Given the description of an element on the screen output the (x, y) to click on. 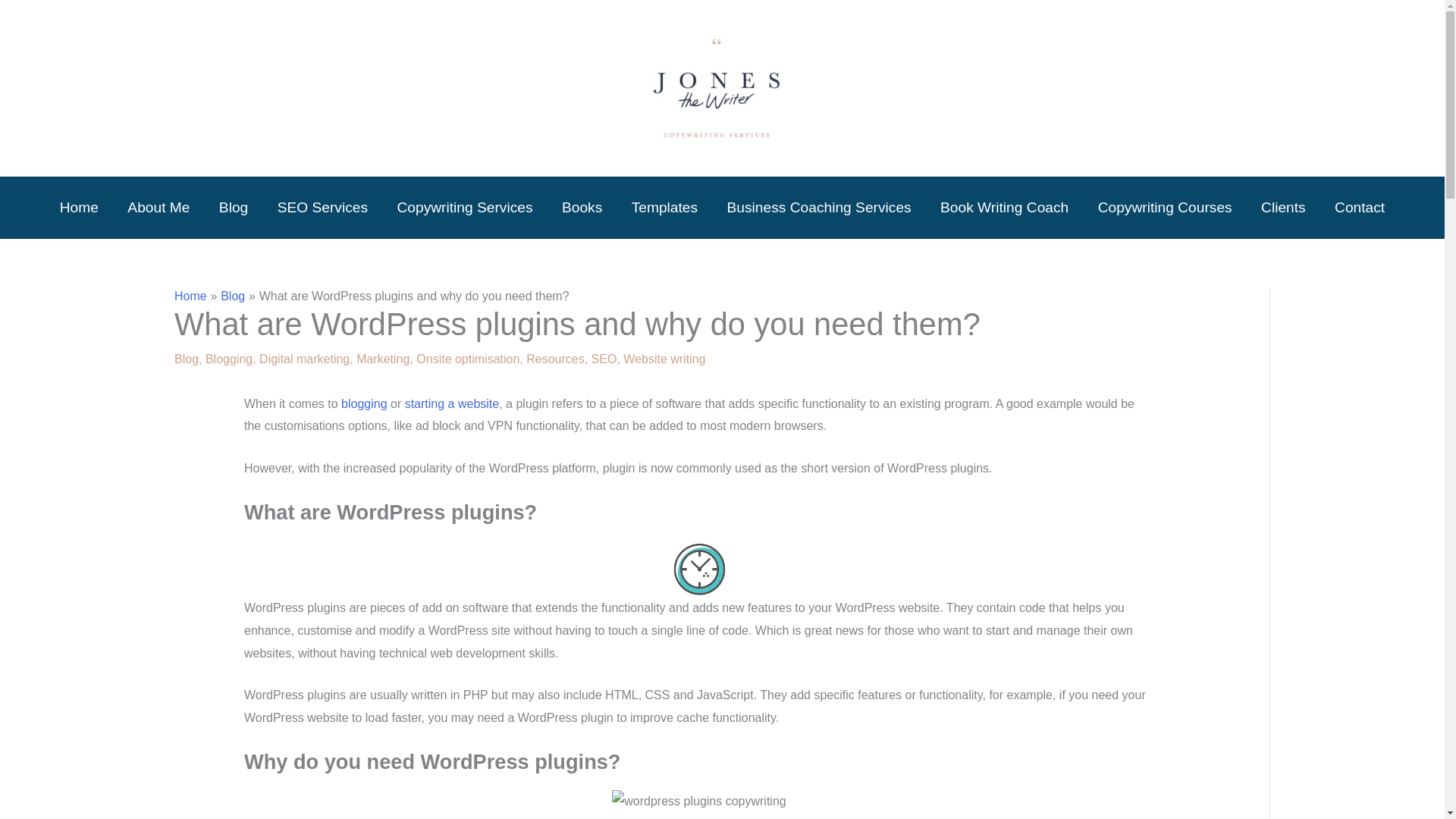
About Me (159, 207)
Copywriting Services (464, 207)
Books (582, 207)
SEO Services (321, 207)
Templates (663, 207)
Home (79, 207)
Blog (234, 207)
